Given the description of an element on the screen output the (x, y) to click on. 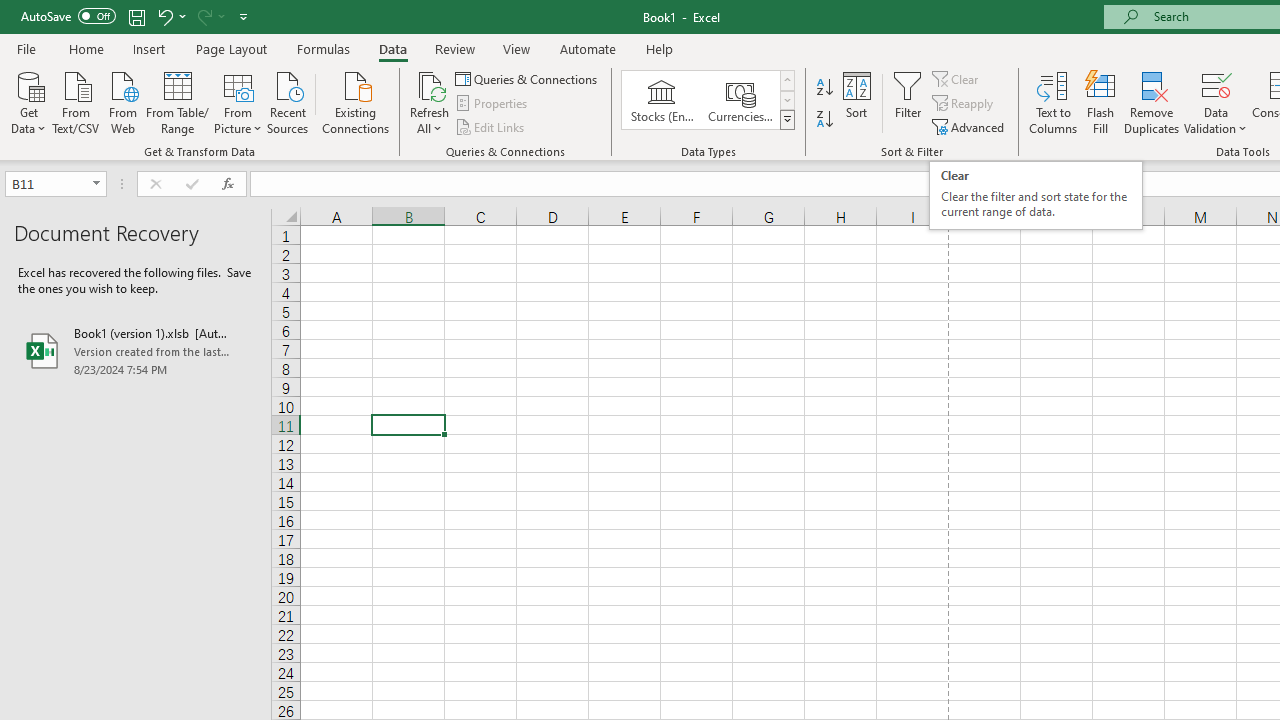
Queries & Connections (527, 78)
From Table/Range (177, 101)
Flash Fill (1101, 102)
Sort... (856, 102)
Currencies (English) (740, 100)
Recent Sources (287, 101)
Stocks (English) (662, 100)
Existing Connections (355, 101)
